Given the description of an element on the screen output the (x, y) to click on. 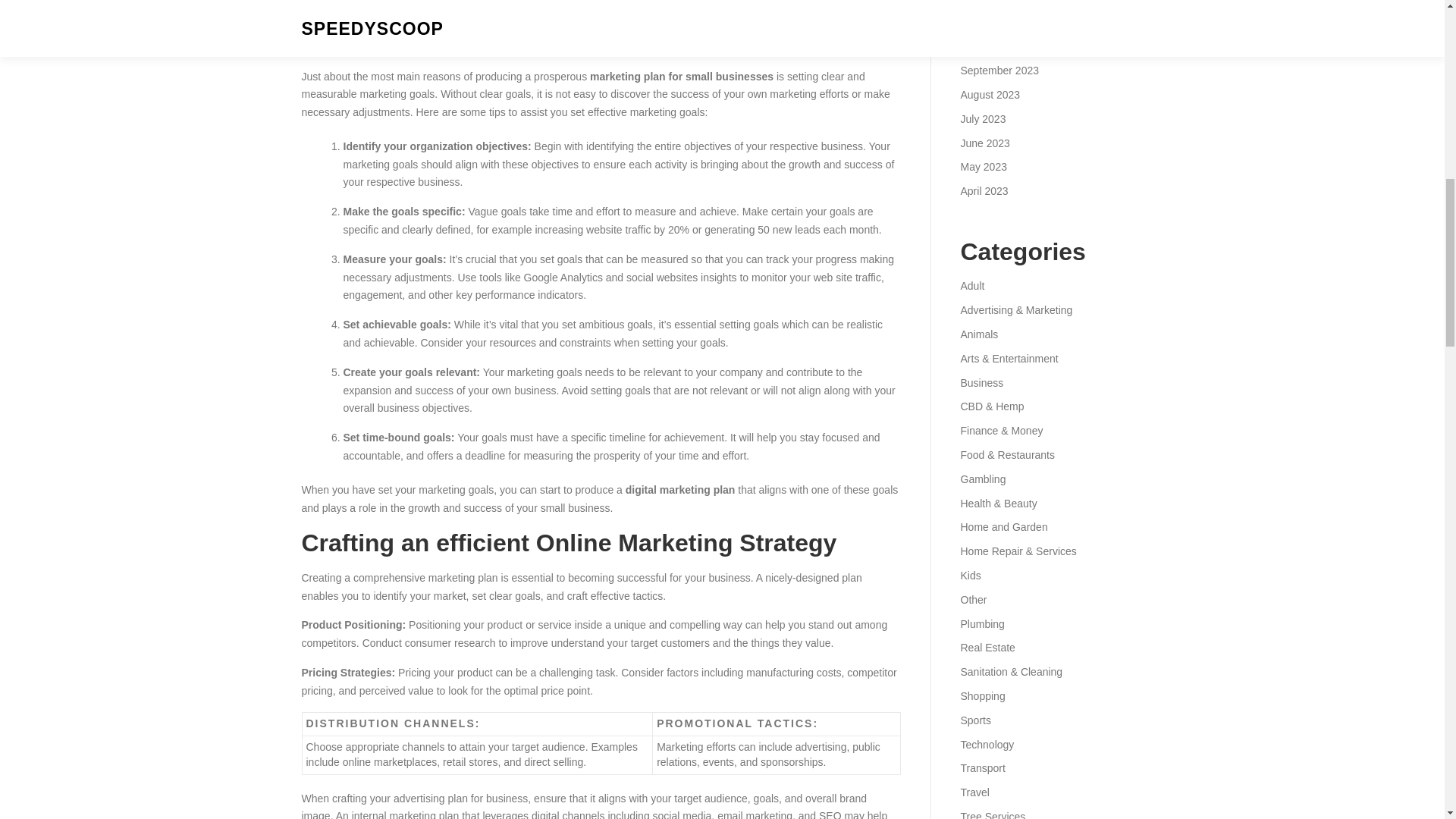
December 2023 (997, 2)
Business (981, 382)
Animals (978, 334)
September 2023 (999, 70)
May 2023 (982, 166)
August 2023 (989, 94)
Adult (971, 285)
October 2023 (992, 46)
April 2023 (983, 191)
July 2023 (982, 119)
